Given the description of an element on the screen output the (x, y) to click on. 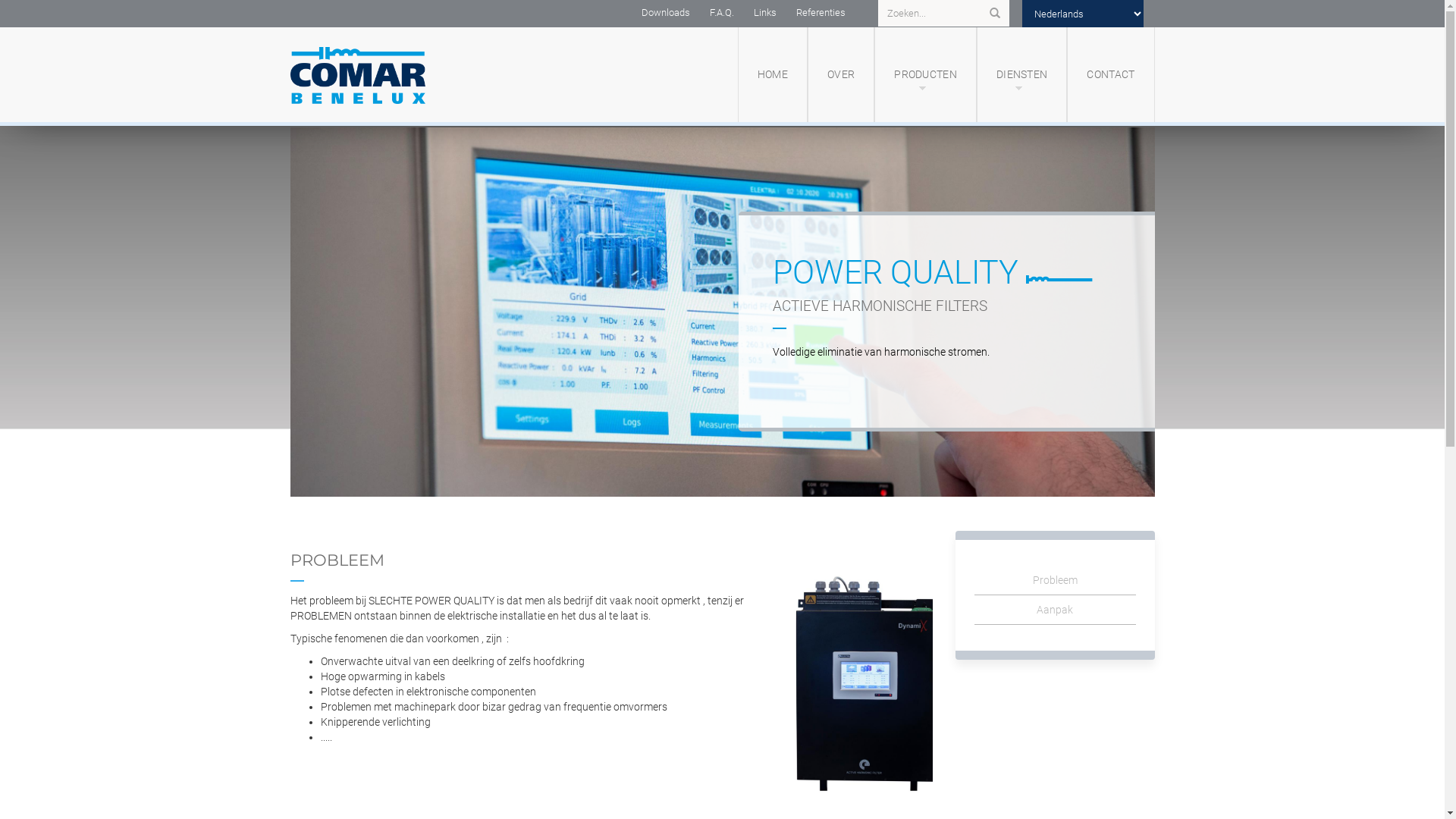
Probleem Element type: text (1054, 580)
Zoeken Element type: text (993, 13)
PROBLEEM Element type: text (336, 559)
Downloads Element type: text (664, 12)
Links Element type: text (764, 12)
HOME Element type: text (772, 74)
Power Quality Actieve harmonische filters Element type: hover (721, 311)
Referenties Element type: text (819, 12)
Terug naar de startpagina Element type: hover (391, 74)
Overslaan en naar de inhoud gaan Element type: text (0, 121)
Geef de woorden op waarnaar u wilt zoeken. Element type: hover (938, 13)
CONTACT Element type: text (1110, 74)
OVER Element type: text (840, 74)
F.A.Q. Element type: text (721, 12)
Aanpak Element type: text (1054, 609)
